Given the description of an element on the screen output the (x, y) to click on. 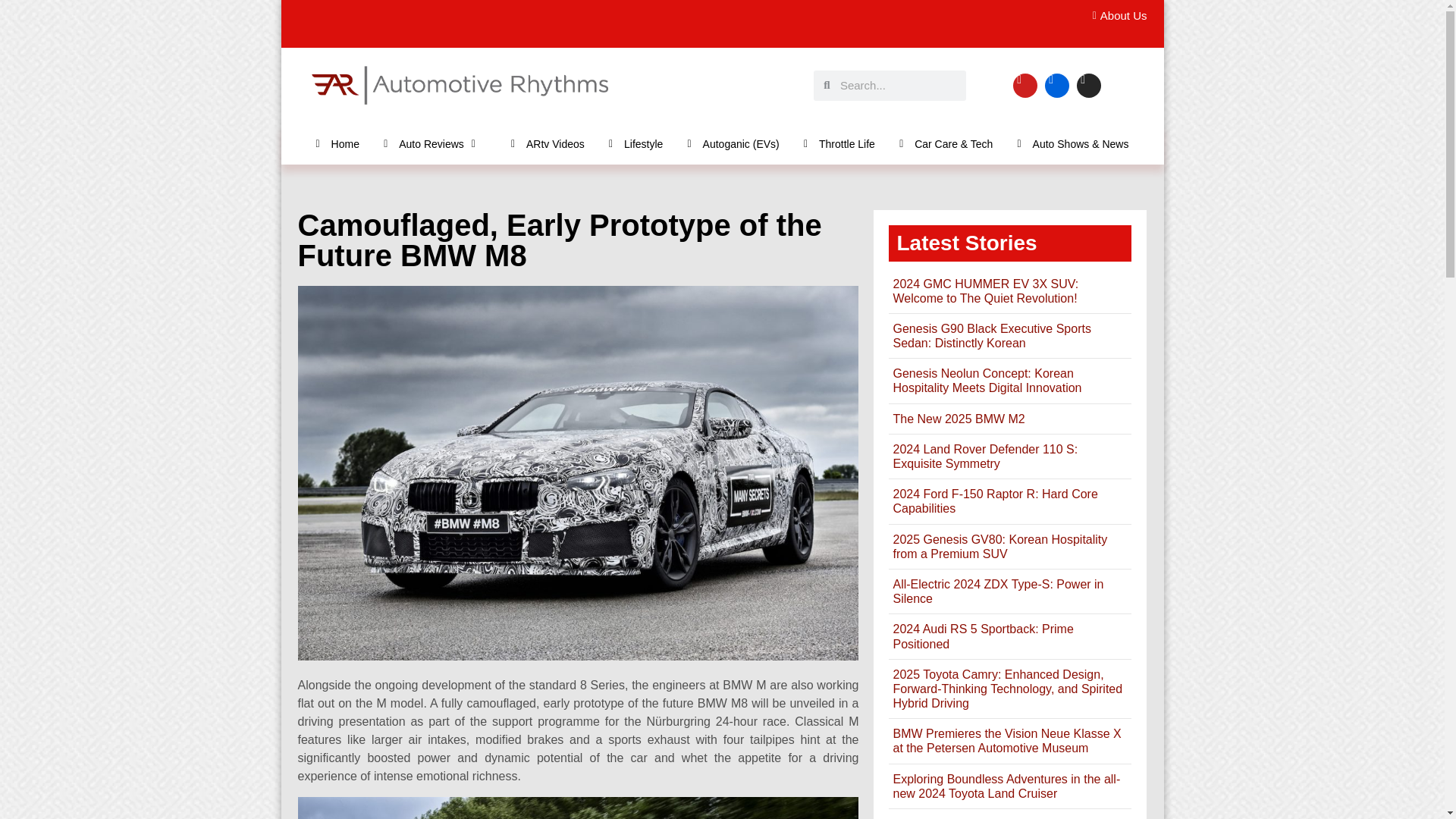
2024 GMC HUMMER EV 3X SUV: Welcome to The Quiet Revolution! (985, 290)
Home (336, 142)
Auto Reviews (435, 142)
The New 2025 BMW M2 (958, 418)
ARtv Videos (547, 142)
Lifestyle (635, 142)
About Us (1115, 16)
Genesis G90 Black Executive Sports Sedan: Distinctly Korean (991, 335)
Throttle Life (839, 142)
